Given the description of an element on the screen output the (x, y) to click on. 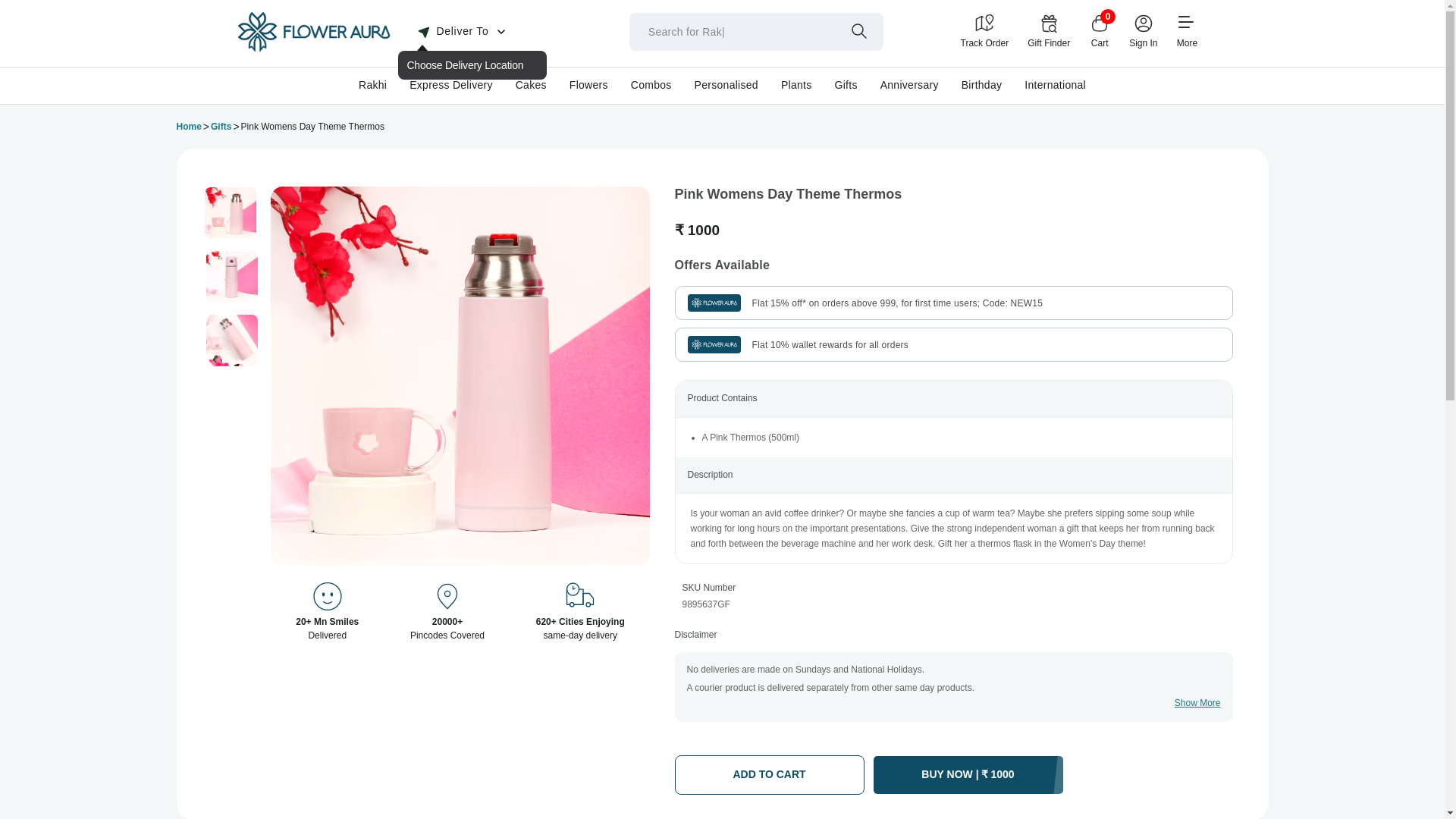
Rakhi (372, 84)
Gifts (221, 127)
Home (312, 48)
Express Delivery (450, 84)
Delivered (447, 597)
Pink Womens Day Theme Thermos (230, 213)
Track Order (984, 31)
Track Order (984, 31)
Home (188, 127)
Delivered (327, 597)
